Given the description of an element on the screen output the (x, y) to click on. 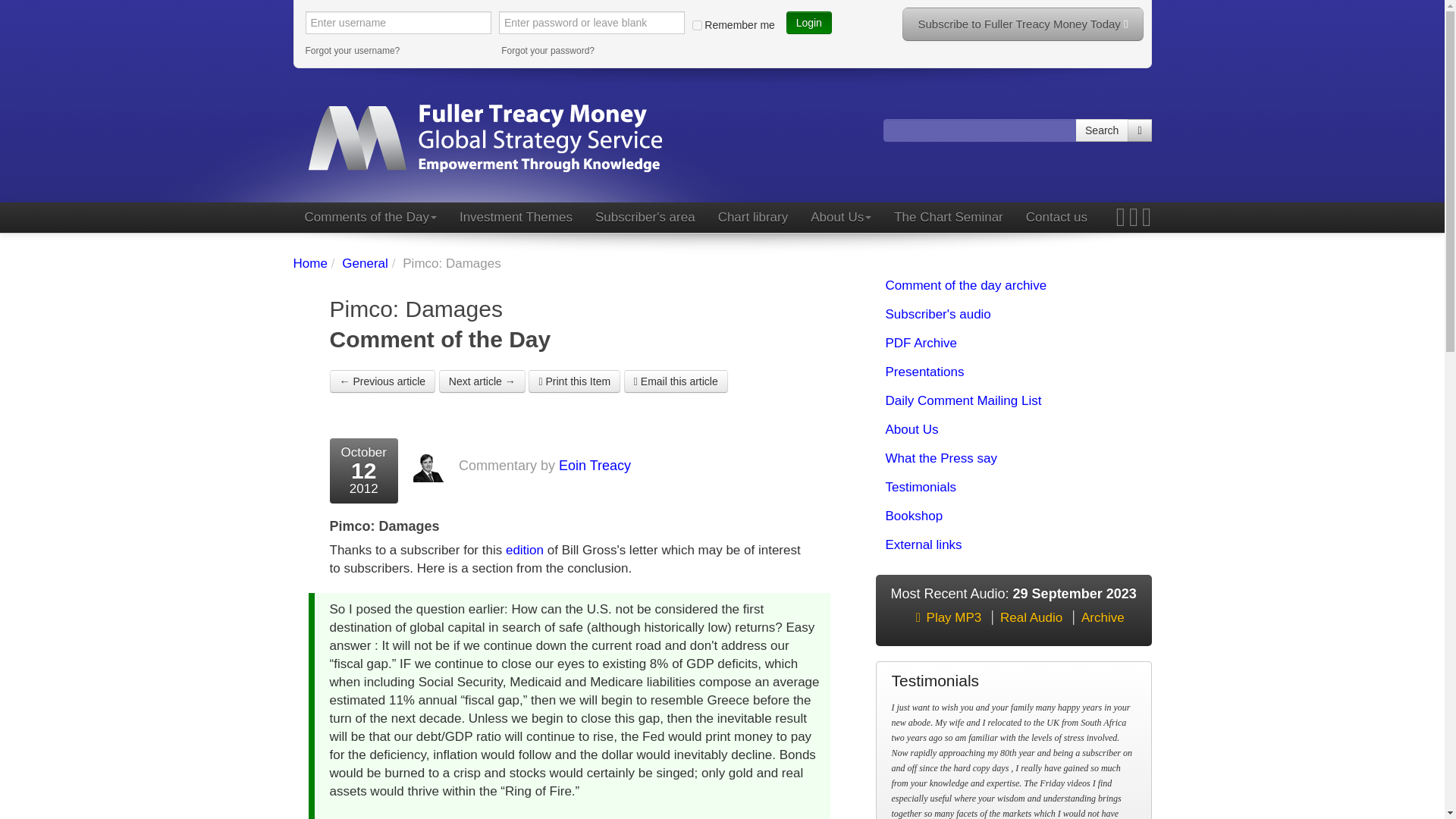
edition (524, 549)
The Chart Seminar (948, 217)
Login (808, 22)
General (364, 263)
Email this article (676, 381)
Eoin Treacy (594, 465)
Chart library (752, 217)
Forgot your username? (397, 50)
Print this Item (574, 381)
Comments of the Day (369, 217)
